Given the description of an element on the screen output the (x, y) to click on. 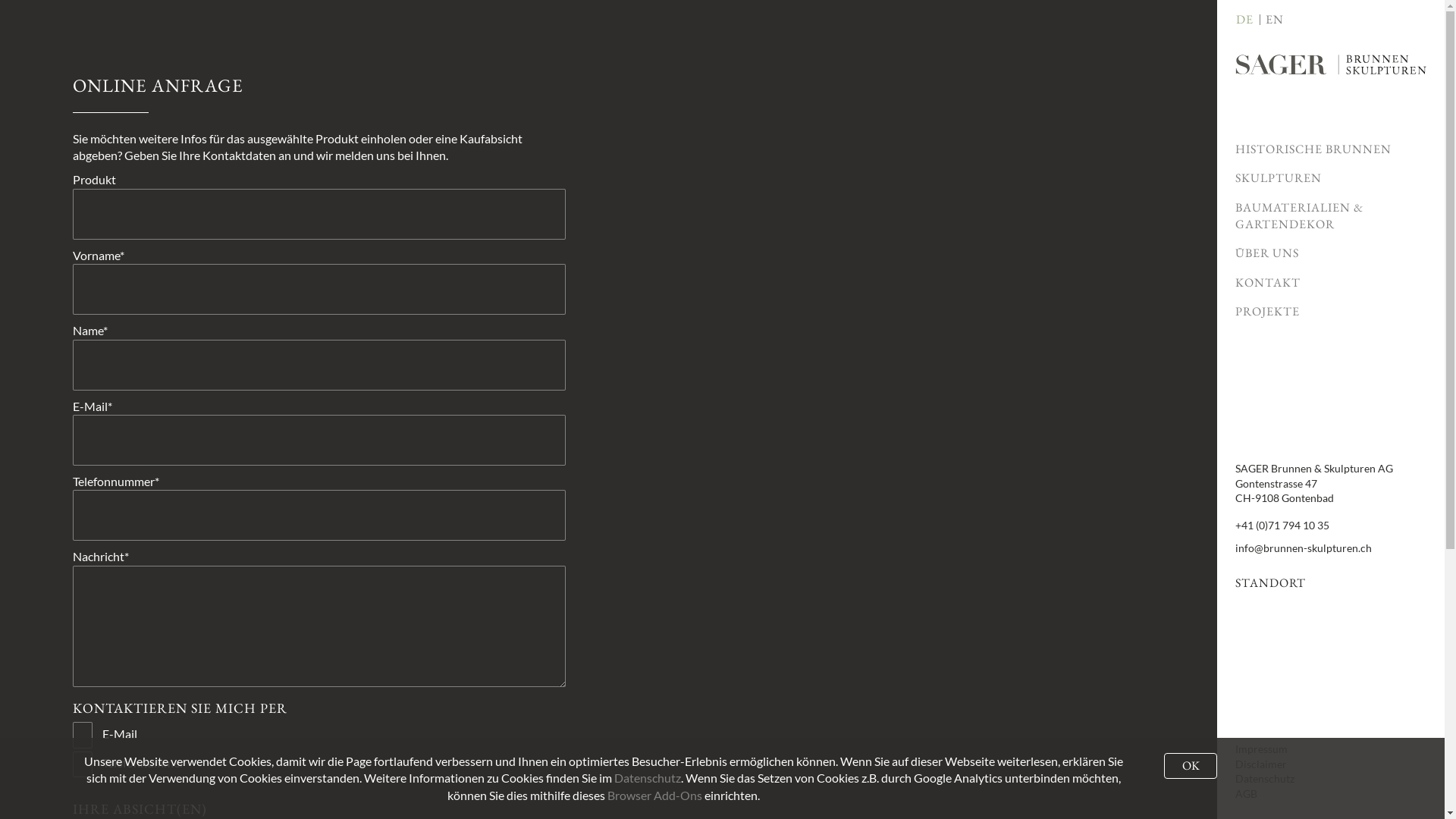
Browser Add-Ons Element type: text (653, 794)
SKULPTUREN Element type: text (1330, 177)
BAUMATERIALIEN & GARTENDEKOR Element type: text (1330, 216)
PROJEKTE Element type: text (1330, 311)
+41 (0)71 794 10 35 Element type: text (1282, 525)
EN Element type: text (1274, 19)
Disclaimer Element type: text (1260, 763)
Impressum Element type: text (1261, 748)
OK Element type: text (1190, 765)
info@brunnen-skulpturen.ch Element type: text (1303, 548)
Home Element type: hover (1330, 67)
DE Element type: text (1244, 19)
Datenschutz Element type: text (647, 777)
Datenschutz Element type: text (1264, 777)
HISTORISCHE BRUNNEN Element type: text (1330, 148)
KONTAKT Element type: text (1330, 282)
AGB Element type: text (1246, 793)
